Given the description of an element on the screen output the (x, y) to click on. 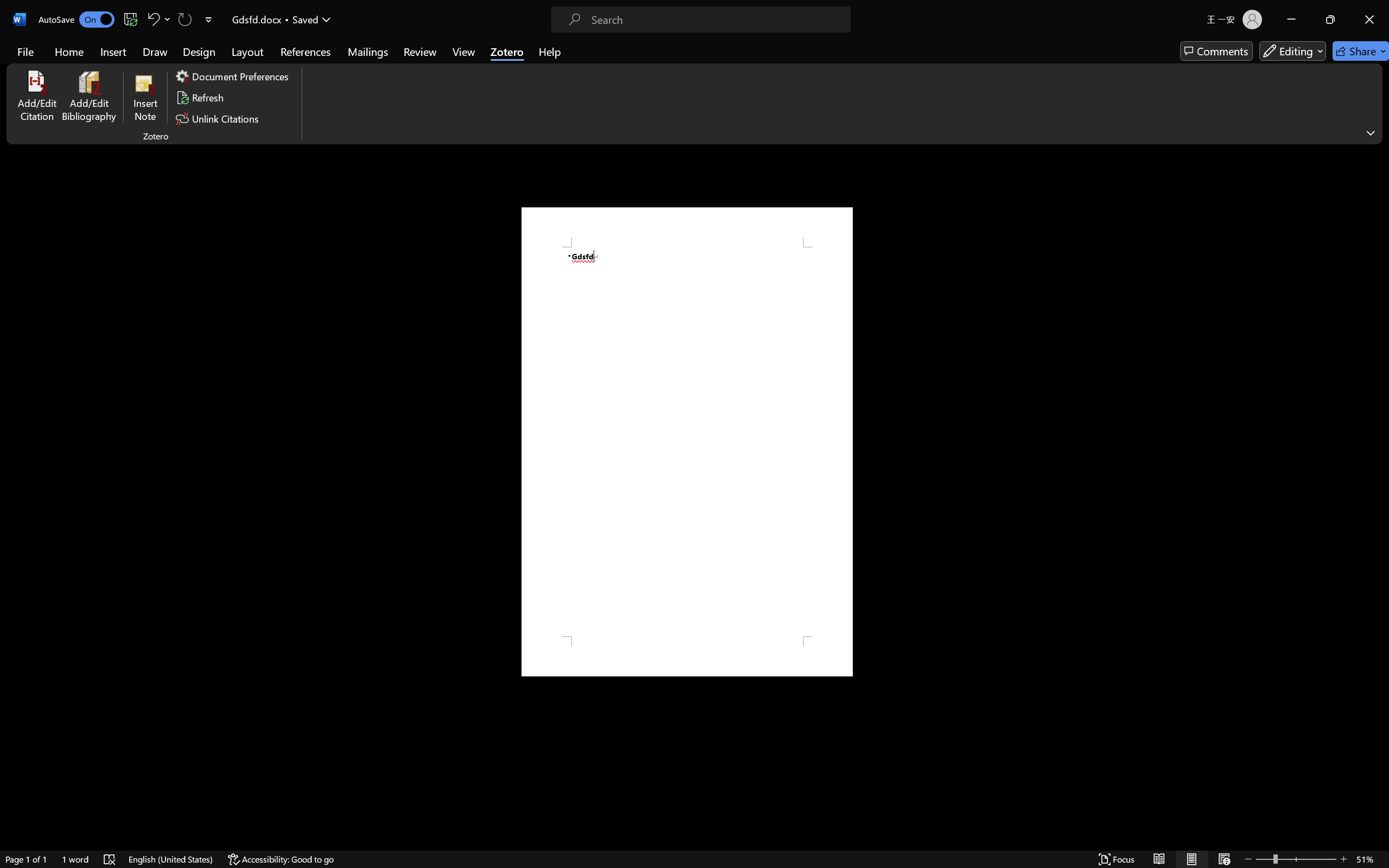
Page 1 content (686, 441)
